Given the description of an element on the screen output the (x, y) to click on. 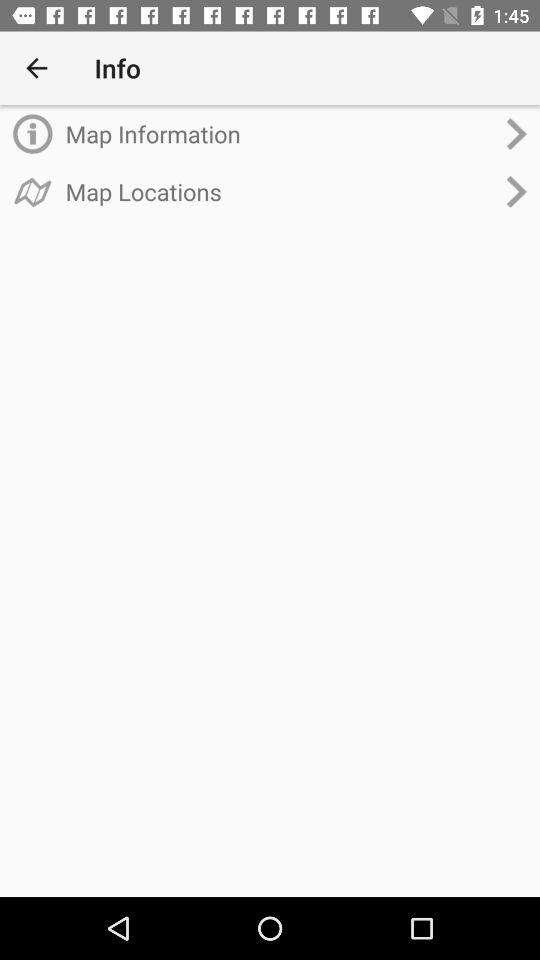
scroll until map information icon (279, 134)
